Given the description of an element on the screen output the (x, y) to click on. 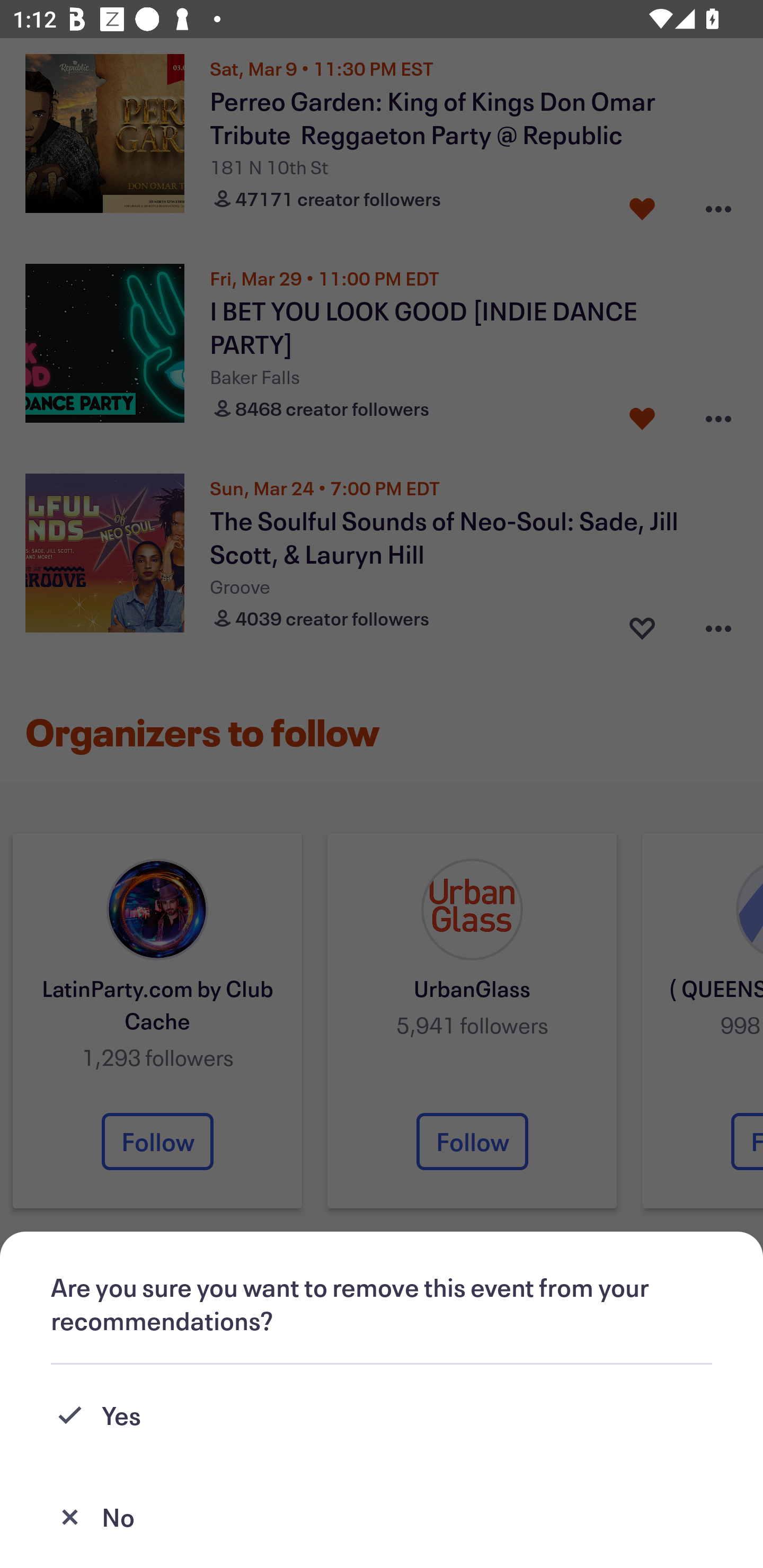
Yes (381, 1415)
No (381, 1517)
